Given the description of an element on the screen output the (x, y) to click on. 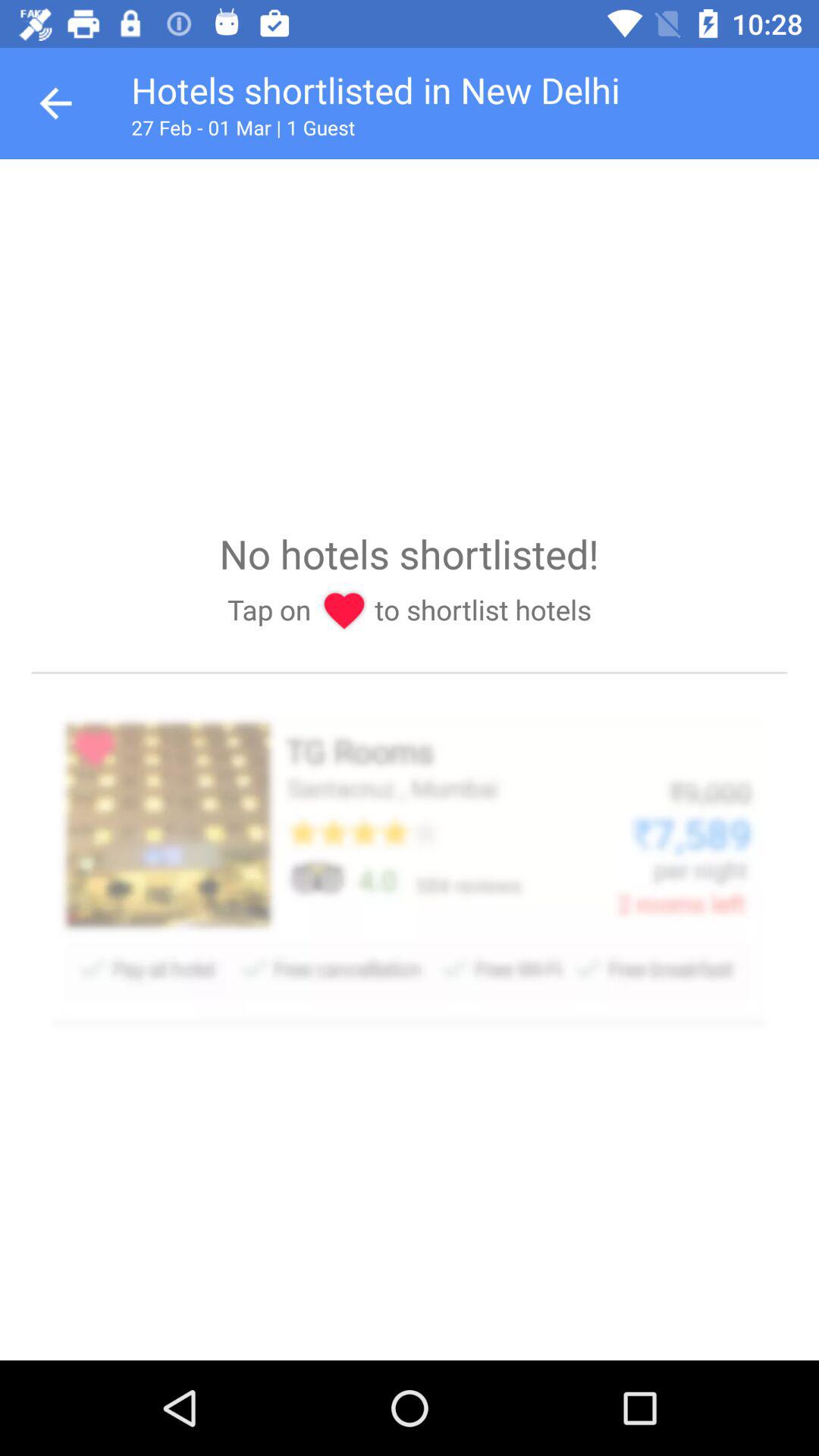
goes back one page (55, 103)
